Given the description of an element on the screen output the (x, y) to click on. 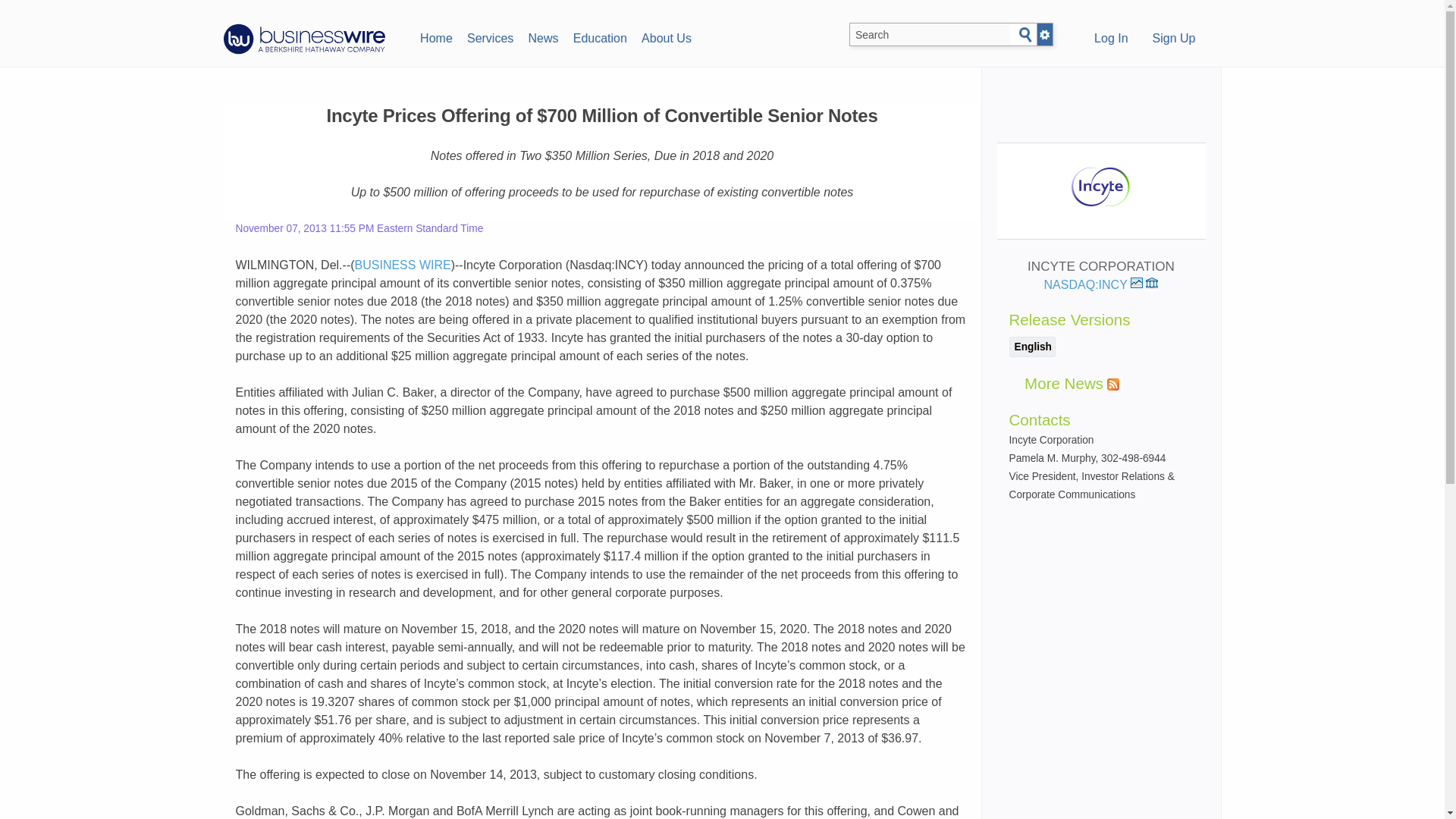
RSS feed for Incyte Corporation (1112, 384)
BUSINESS WIRE (403, 264)
News (543, 36)
Home (436, 36)
Services (490, 36)
Search BusinessWire.com (930, 34)
Education (599, 36)
View stock quote and chart (1136, 282)
About Us (665, 36)
NASDAQ:INCY (1092, 284)
View SEC Filings (1151, 282)
Search (1025, 34)
